Given the description of an element on the screen output the (x, y) to click on. 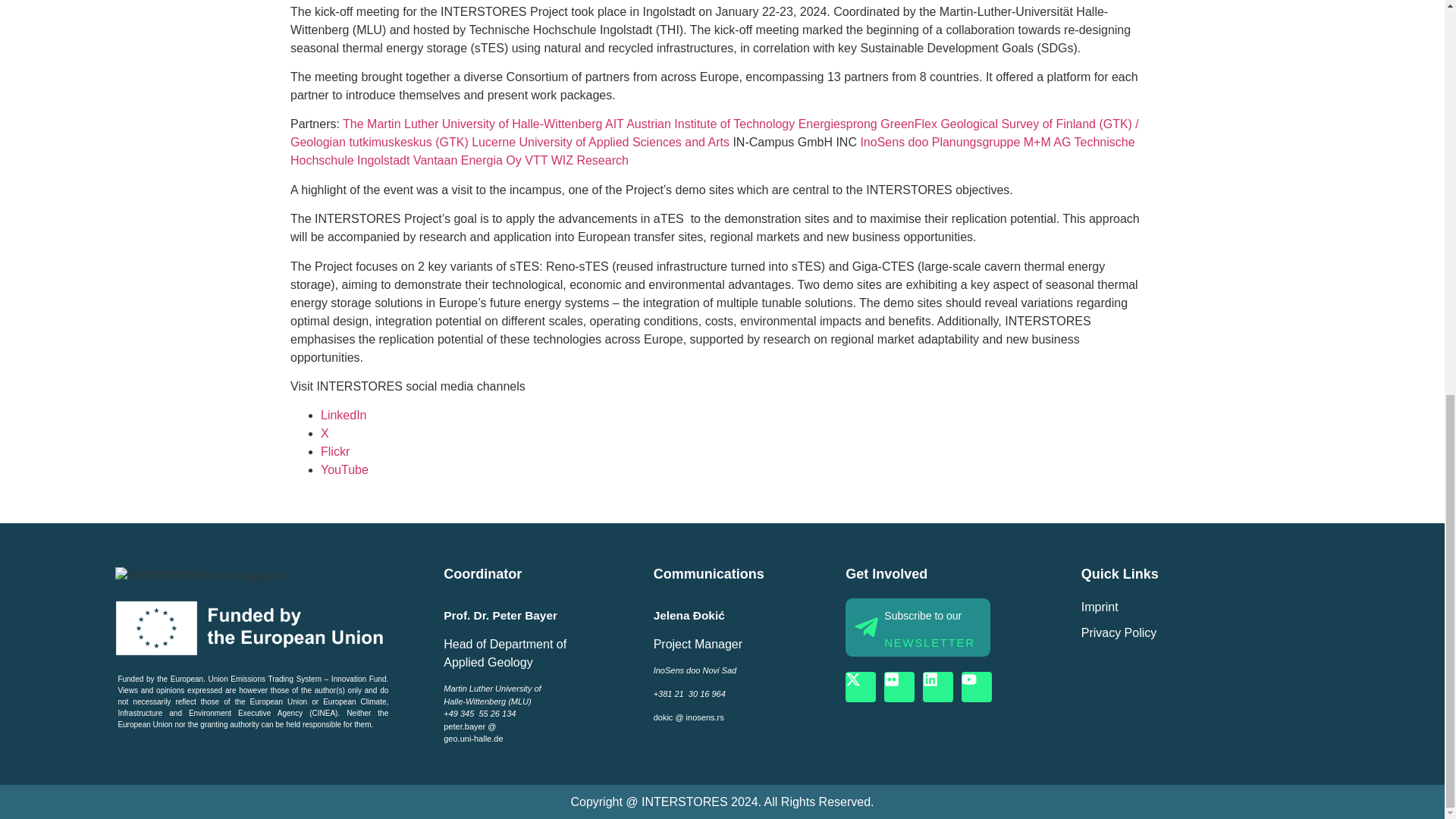
Vantaan Energia Oy (466, 160)
The Martin Luther University of Halle-Wittenberg (470, 123)
GreenFlex (908, 123)
AIT Austrian Institute of Technology (699, 123)
INTERSTORES hor negative (199, 576)
Technische Hochschule Ingolstadt (711, 151)
WIZ Research (588, 160)
Energiesprong (836, 123)
VTT (535, 160)
LinkedIn (343, 414)
